Given the description of an element on the screen output the (x, y) to click on. 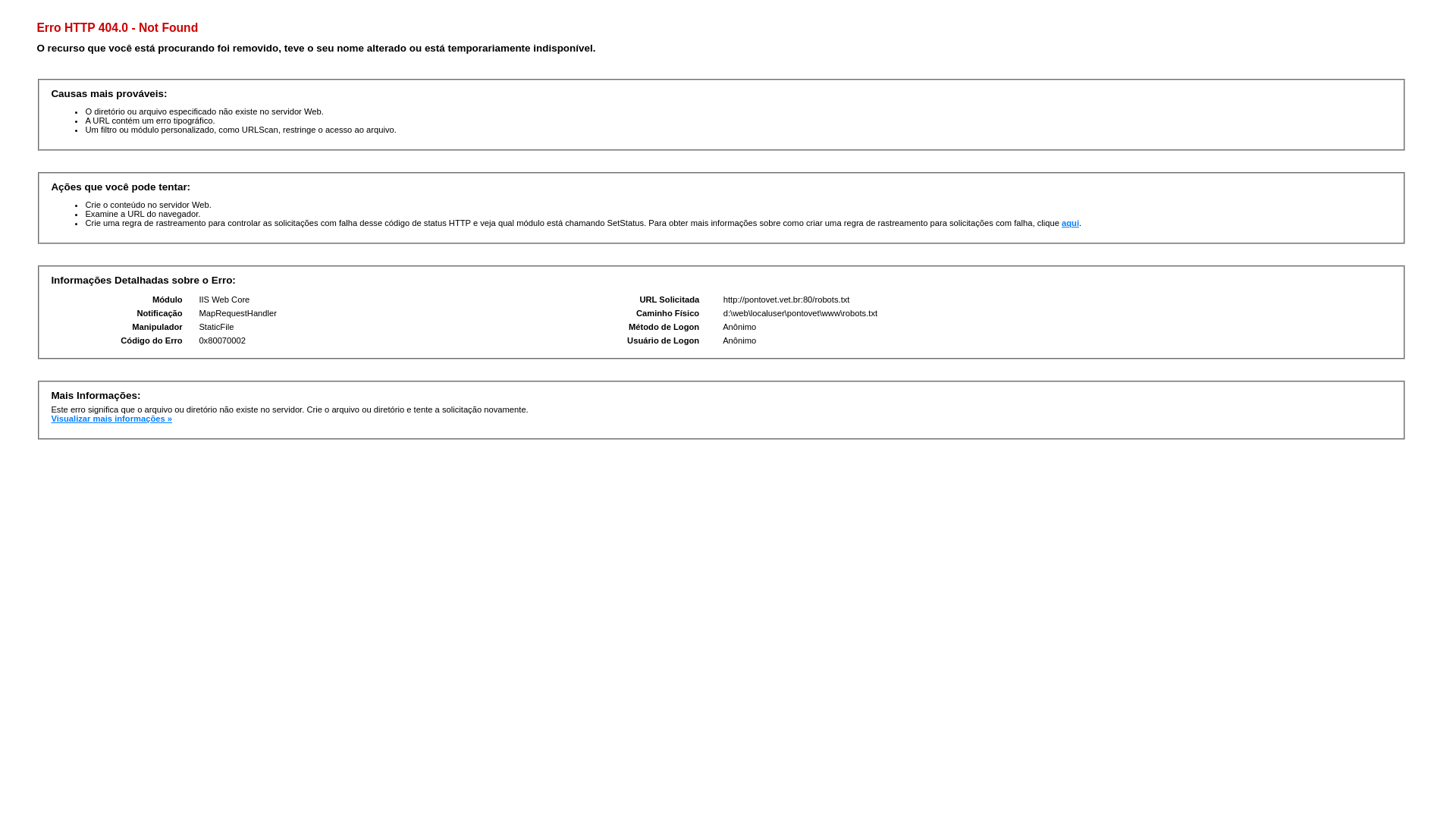
aqui Element type: text (1070, 222)
